Given the description of an element on the screen output the (x, y) to click on. 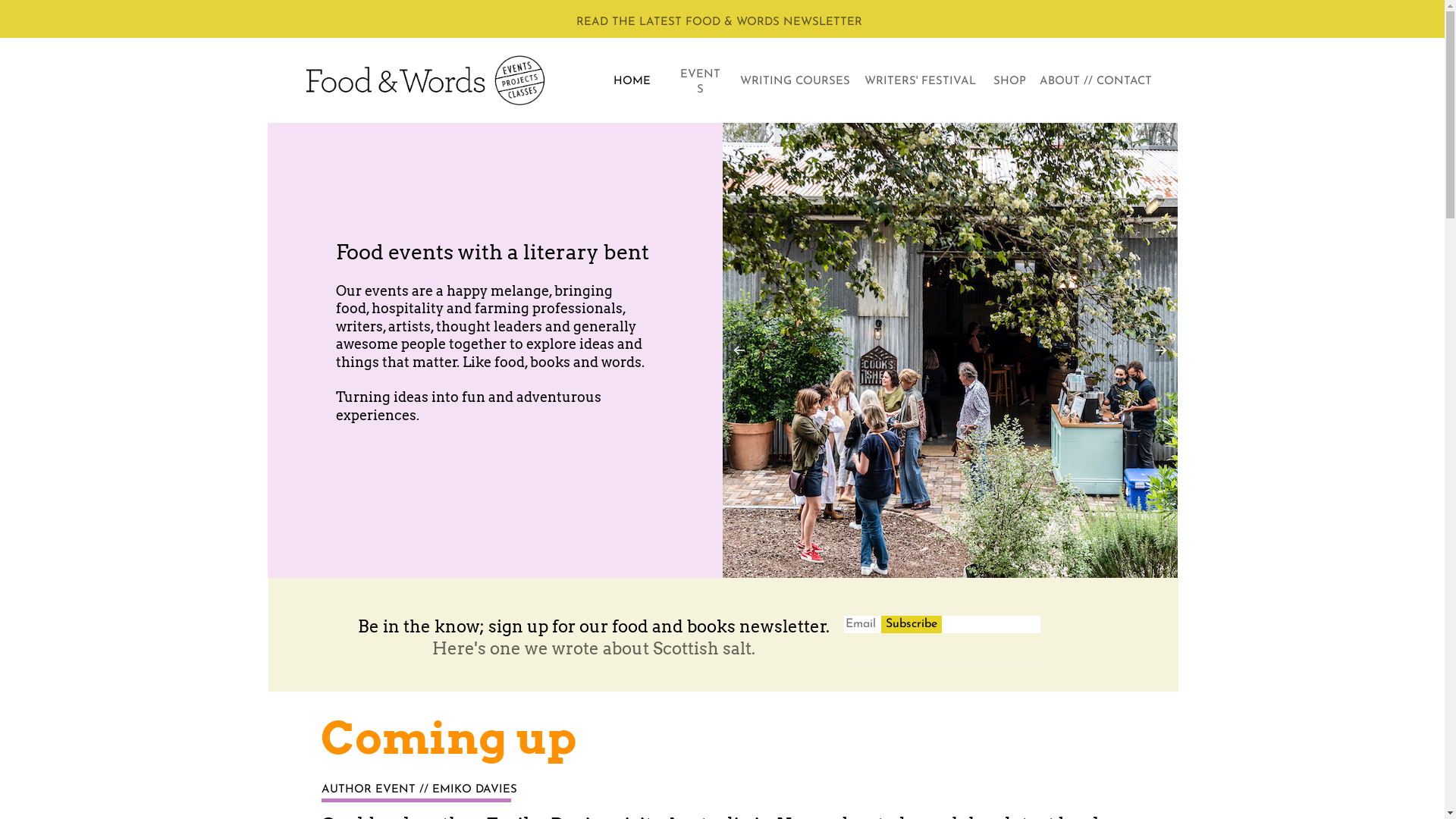
Previous (arrow left) Element type: hover (748, 350)
Next (arrow right) Element type: hover (1149, 350)
READ THE LATEST FOOD & WORDS NEWSLETTER Element type: text (718, 22)
HOME Element type: text (631, 81)
WRITERS' FESTIVAL Element type: text (919, 81)
Here's one we wrote about Scottish salt. Element type: text (593, 648)
EVENTS Element type: text (699, 82)
WRITING COURSES Element type: text (794, 81)
Subscribe Element type: text (911, 624)
Toggle fullscreen Element type: hover (1162, 136)
ABOUT // CONTACT Element type: text (1095, 81)
SHOP Element type: text (1009, 81)
